Given the description of an element on the screen output the (x, y) to click on. 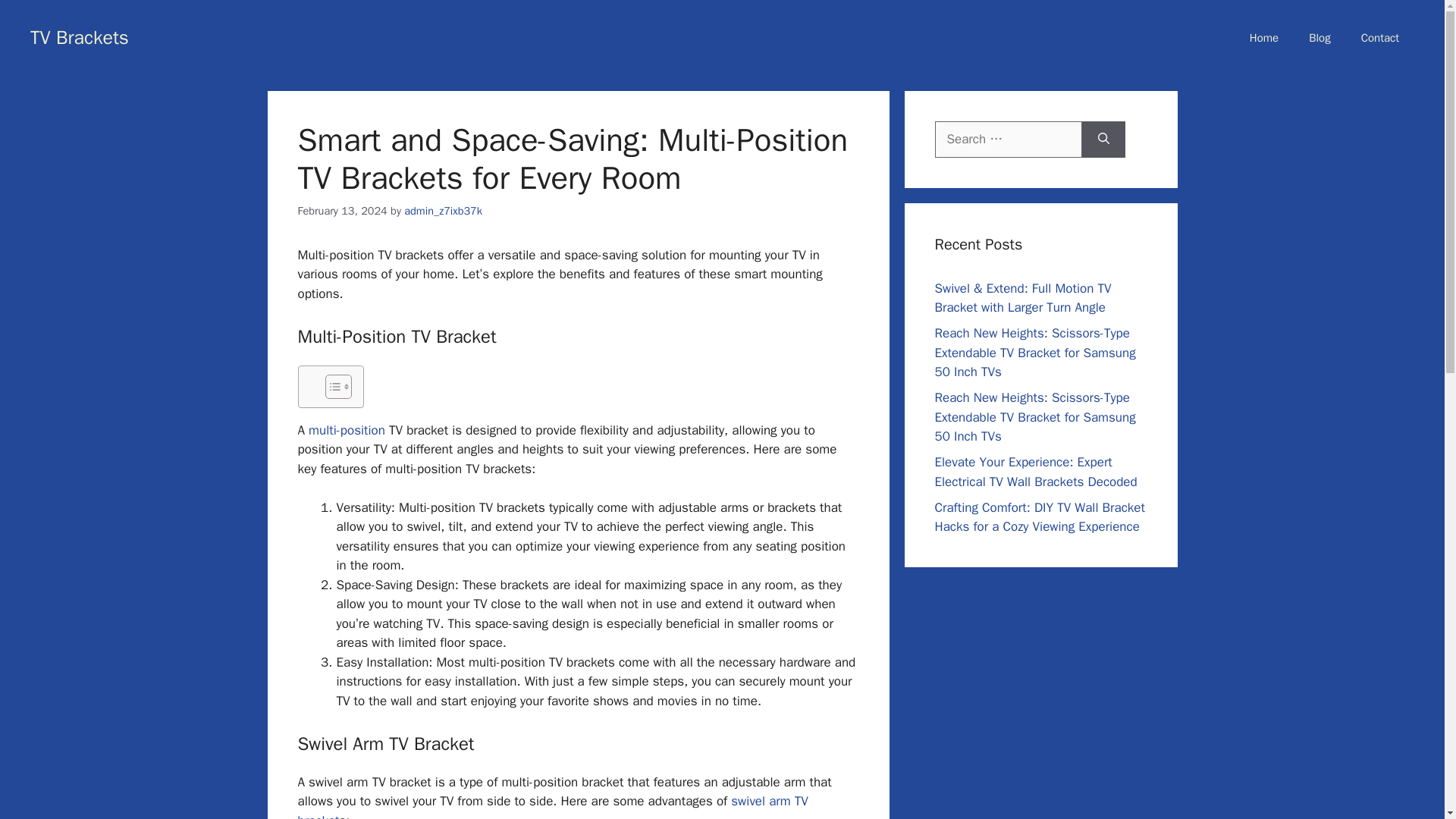
multi-position (346, 430)
Contact (1379, 37)
Home (1264, 37)
Blog (1319, 37)
Search for: (1007, 139)
TV Brackets (79, 37)
